Given the description of an element on the screen output the (x, y) to click on. 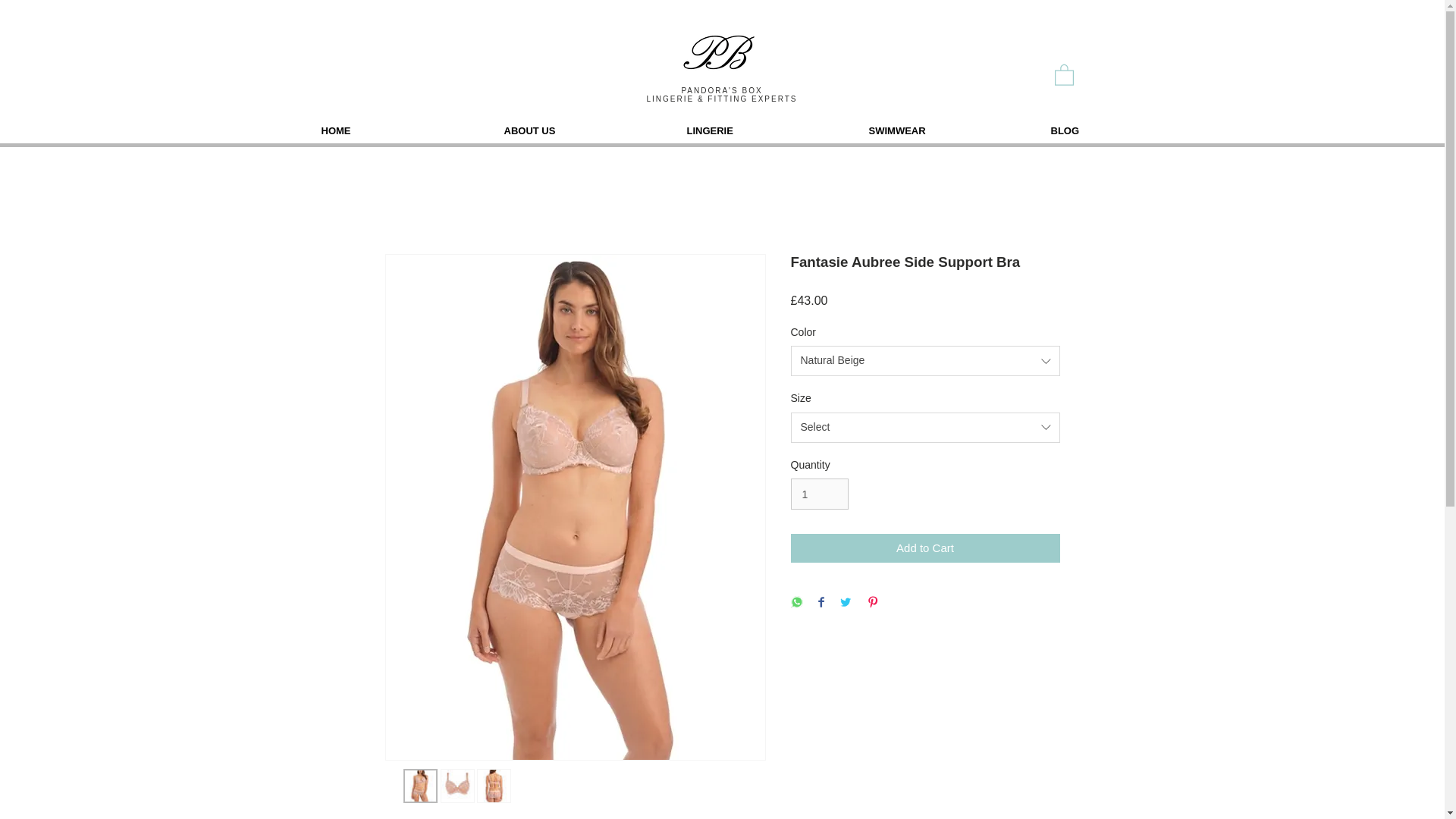
Select (924, 427)
Add to Cart (924, 548)
PANDORA'S BOX (721, 90)
HOME (404, 130)
Natural Beige (924, 360)
SWIMWEAR (951, 130)
1 (818, 493)
ABOUT US (587, 130)
BLOG (1133, 130)
